Given the description of an element on the screen output the (x, y) to click on. 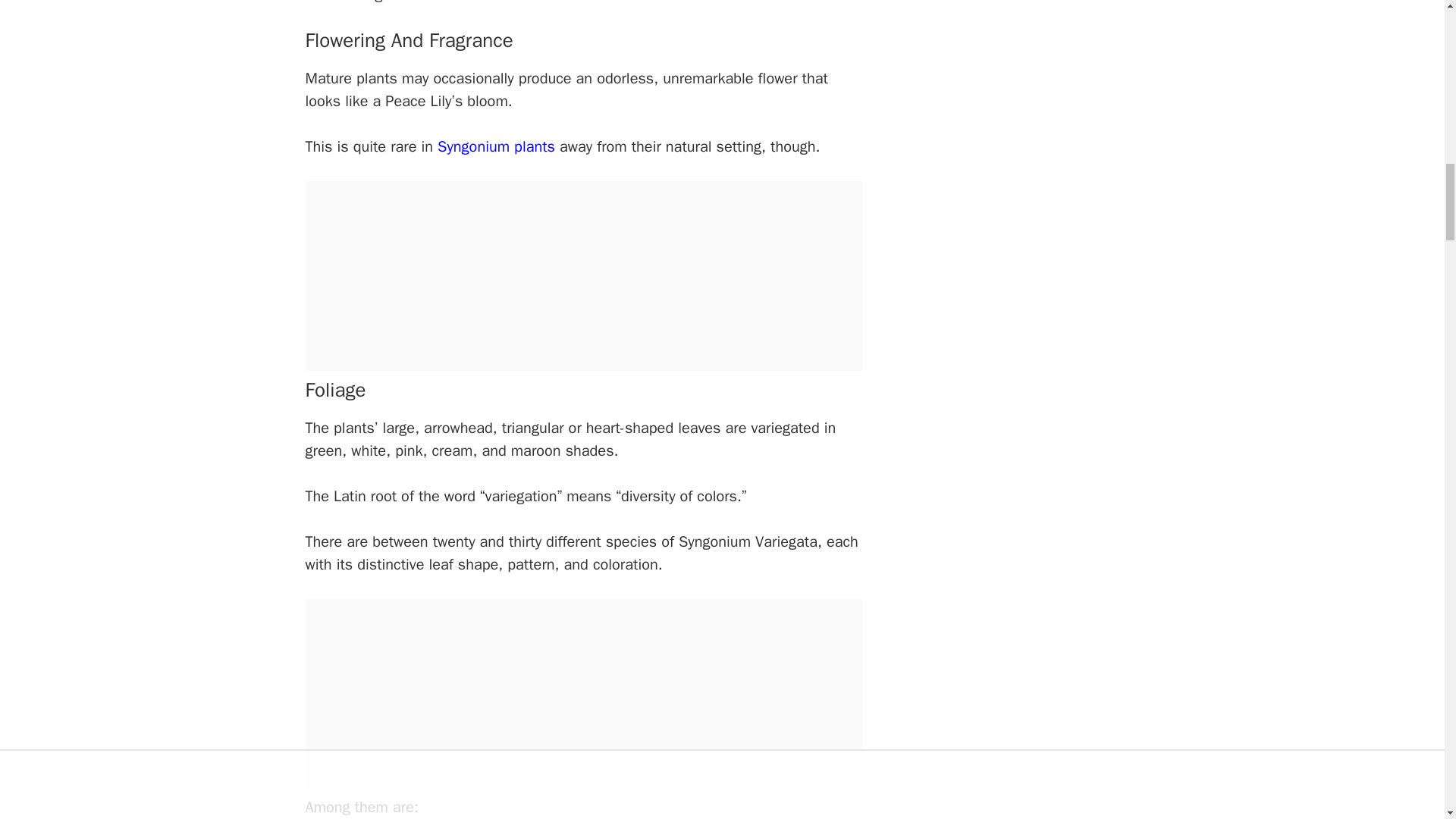
Syngonium plants (496, 146)
